Given the description of an element on the screen output the (x, y) to click on. 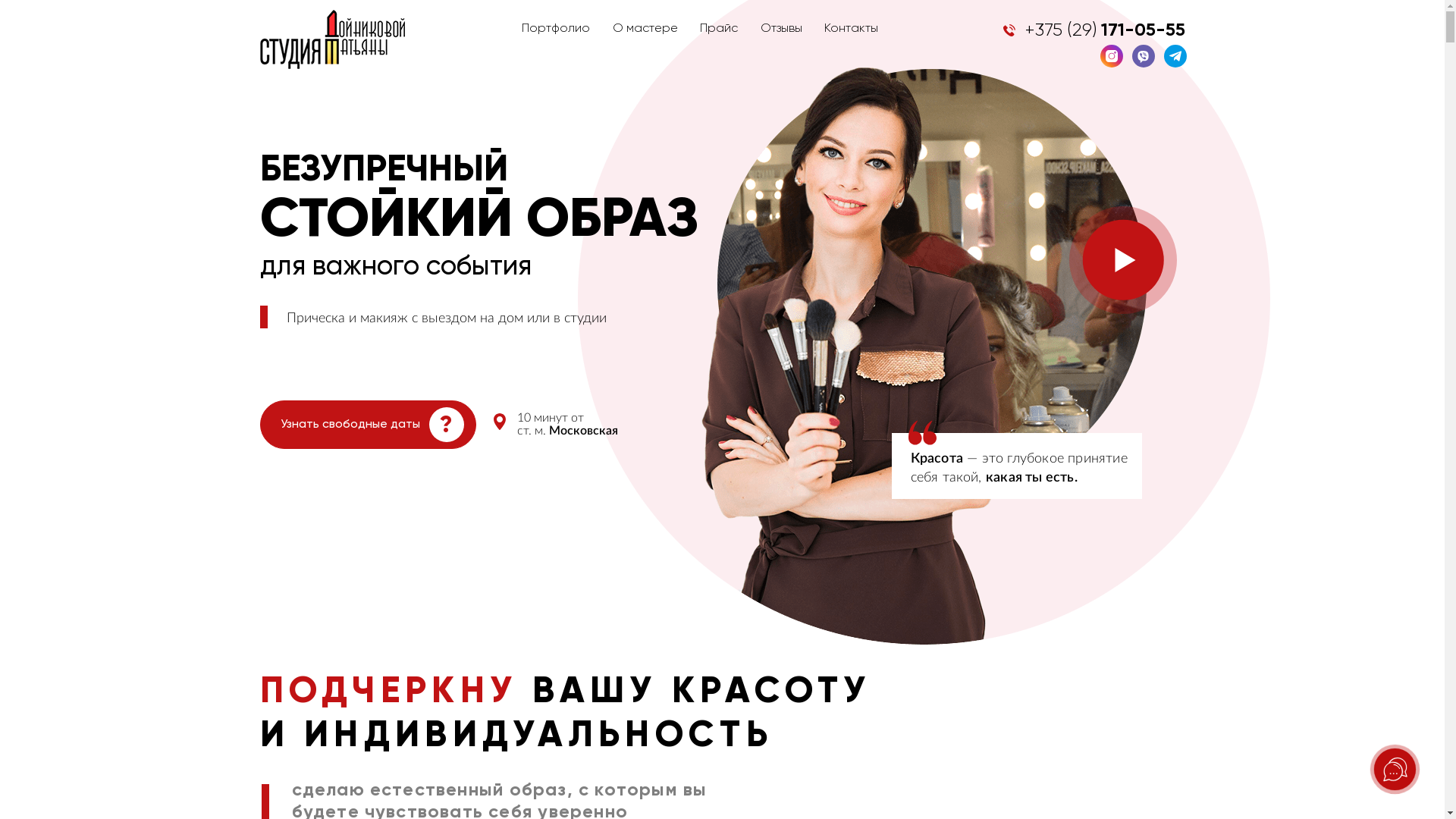
Viber Element type: hover (1142, 55)
Telegram Element type: hover (1174, 55)
+375 (29) 171-05-55 Element type: text (1093, 29)
Instagram Element type: hover (1110, 55)
